Given the description of an element on the screen output the (x, y) to click on. 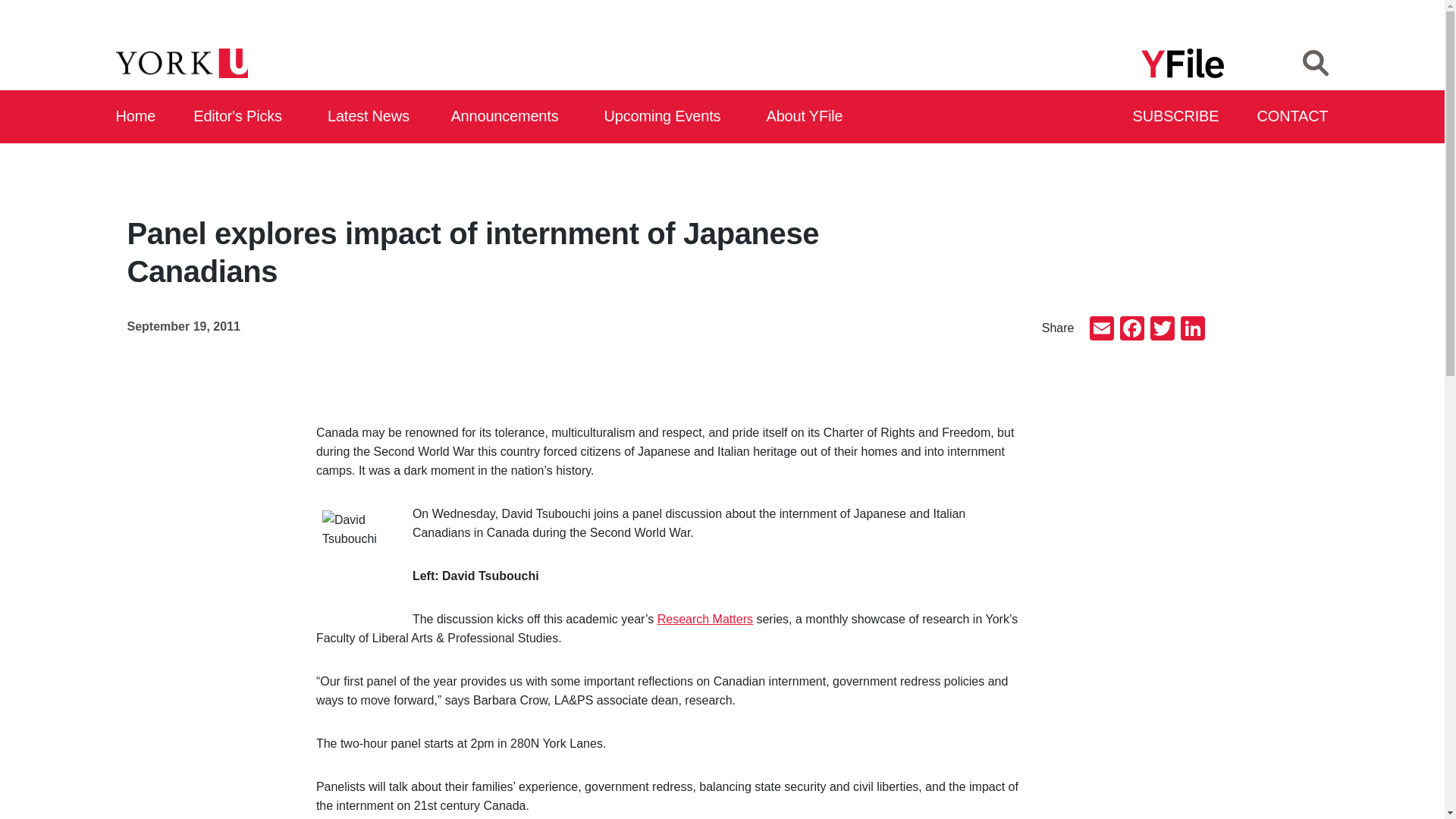
LinkedIn (1191, 329)
Announcements (508, 116)
Subscribe (1176, 116)
Latest News (370, 116)
Twitter (1161, 329)
Editor's Picks (242, 116)
Home (136, 116)
Research Matters (705, 618)
Home (136, 116)
Upcoming Events (667, 116)
SUBSCRIBE (1176, 116)
Twitter (1161, 329)
Latest News (370, 116)
Upcoming Events (667, 116)
About YFile (806, 116)
